Given the description of an element on the screen output the (x, y) to click on. 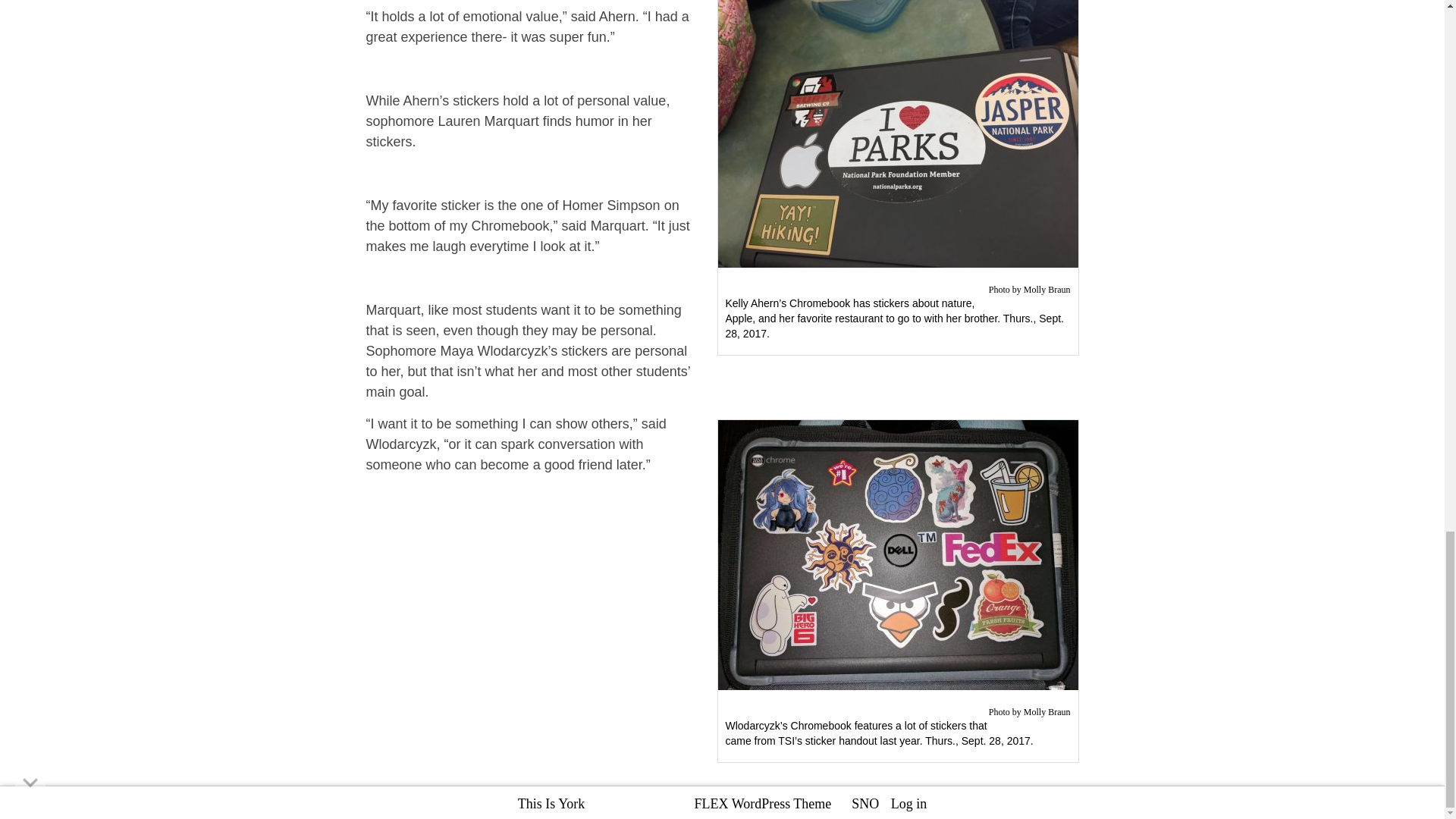
FLEX WordPress Theme (762, 803)
SNO (865, 803)
Log in (909, 803)
This Is York (551, 803)
